Given the description of an element on the screen output the (x, y) to click on. 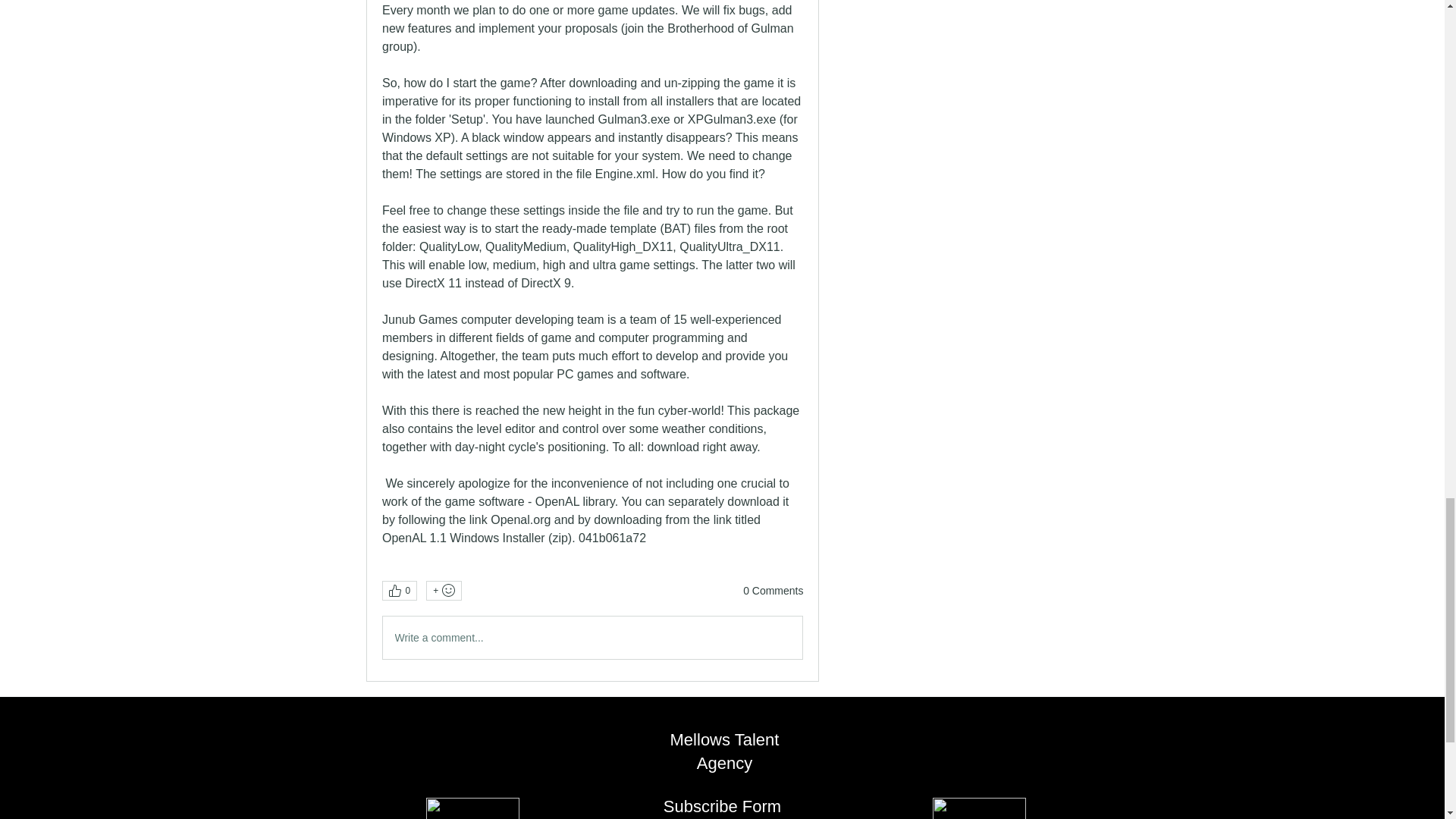
Write a comment... (591, 637)
0 Comments (772, 590)
